Given the description of an element on the screen output the (x, y) to click on. 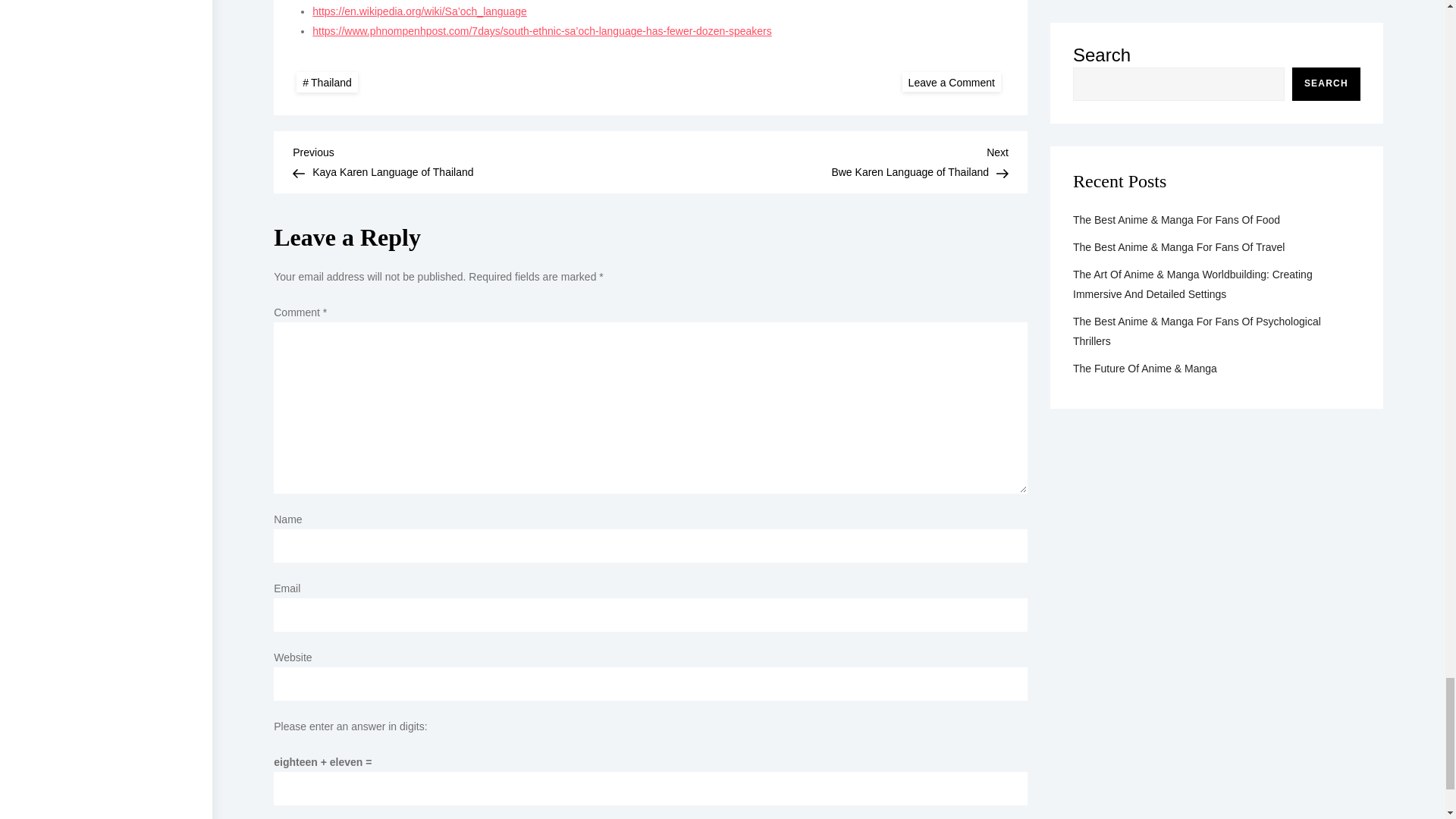
Thailand (327, 82)
